Given the description of an element on the screen output the (x, y) to click on. 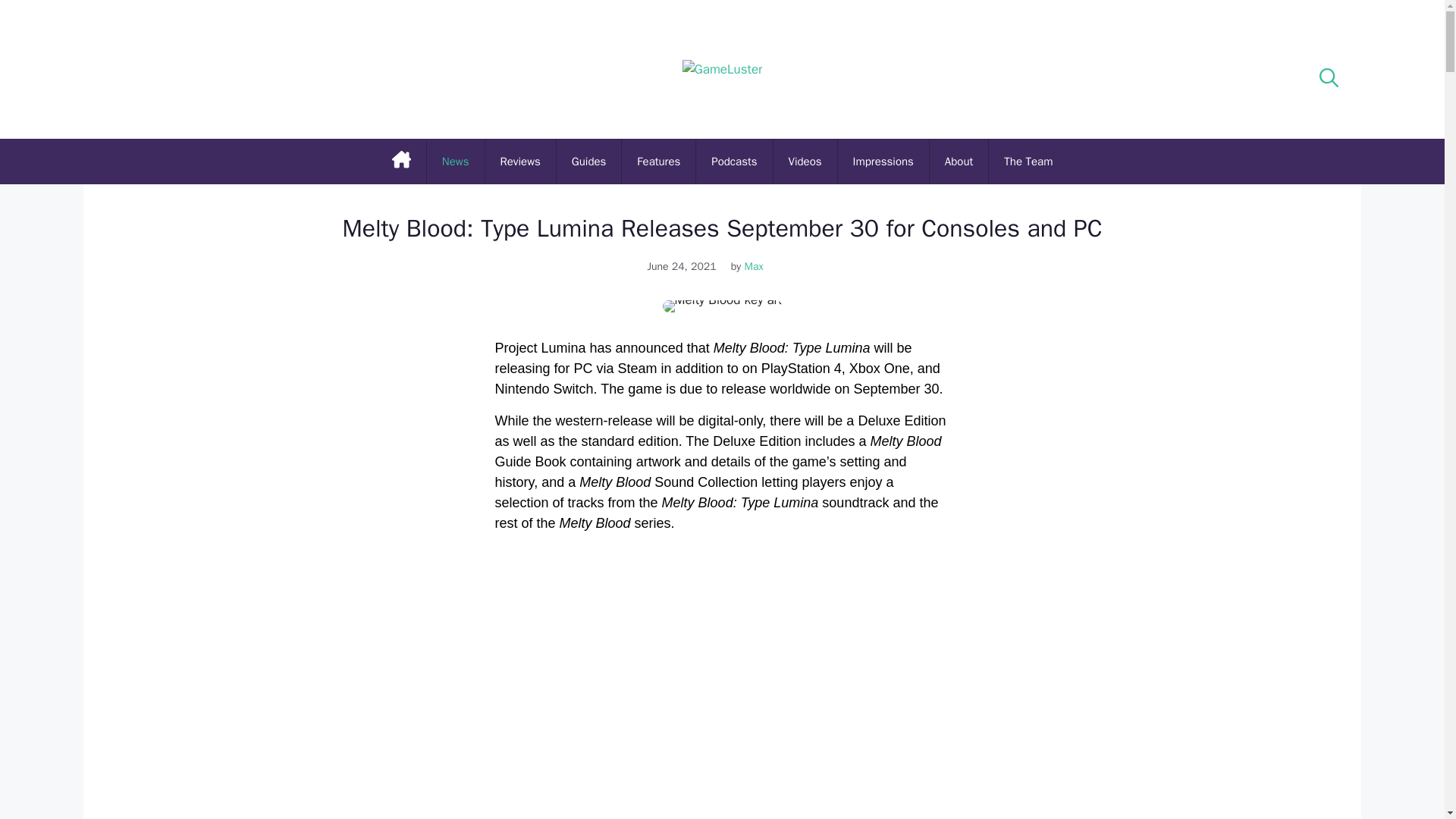
Guides (588, 160)
Melty Blood battle (722, 673)
News (455, 160)
View all posts by Max (759, 266)
Max (759, 266)
Features (658, 160)
Podcasts (733, 160)
About (959, 160)
The Team (1027, 160)
Videos (805, 160)
